Given the description of an element on the screen output the (x, y) to click on. 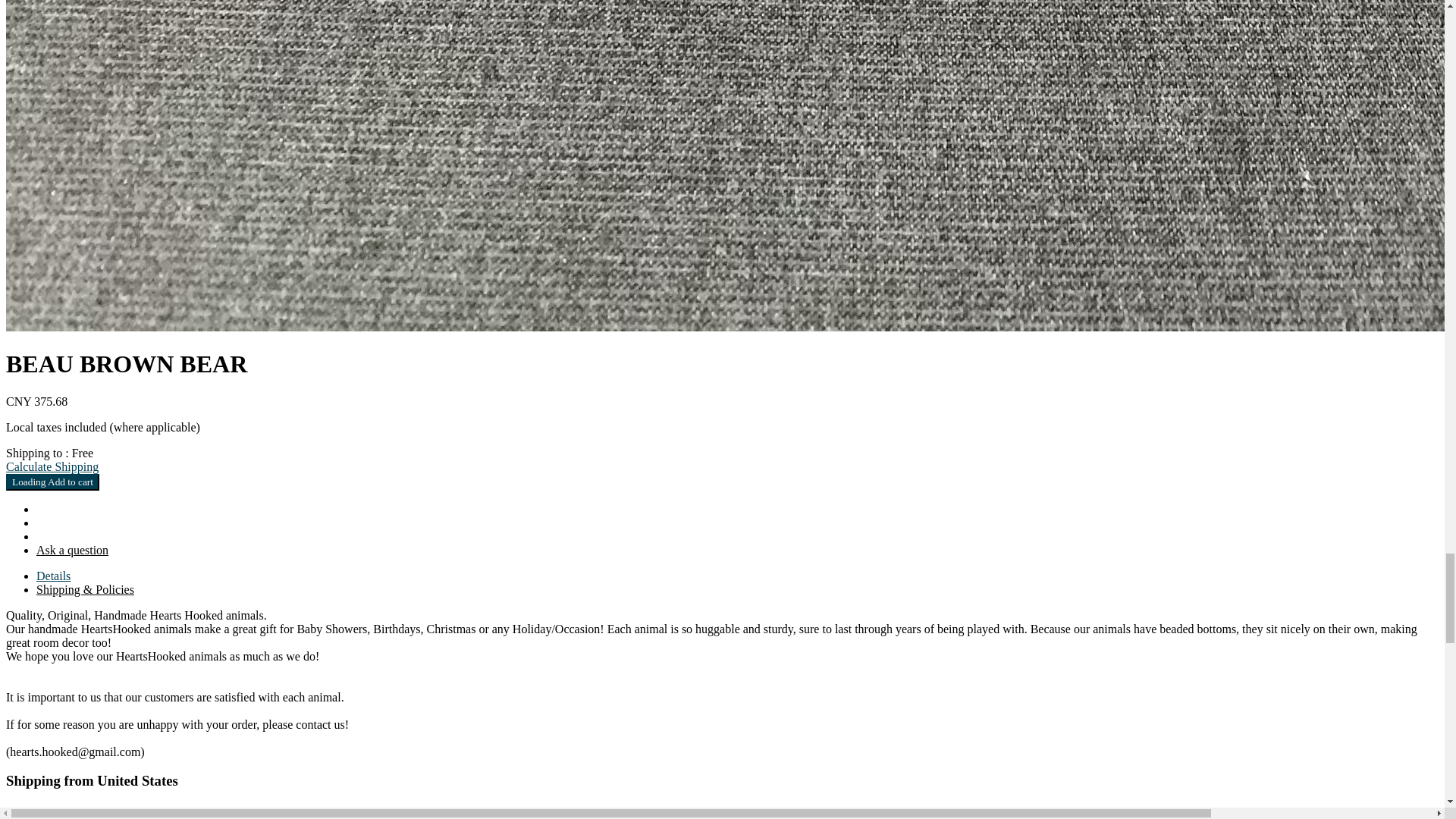
Calculate Shipping (52, 466)
Details (52, 576)
Loading Add to cart (52, 482)
Ask a question (71, 549)
